Given the description of an element on the screen output the (x, y) to click on. 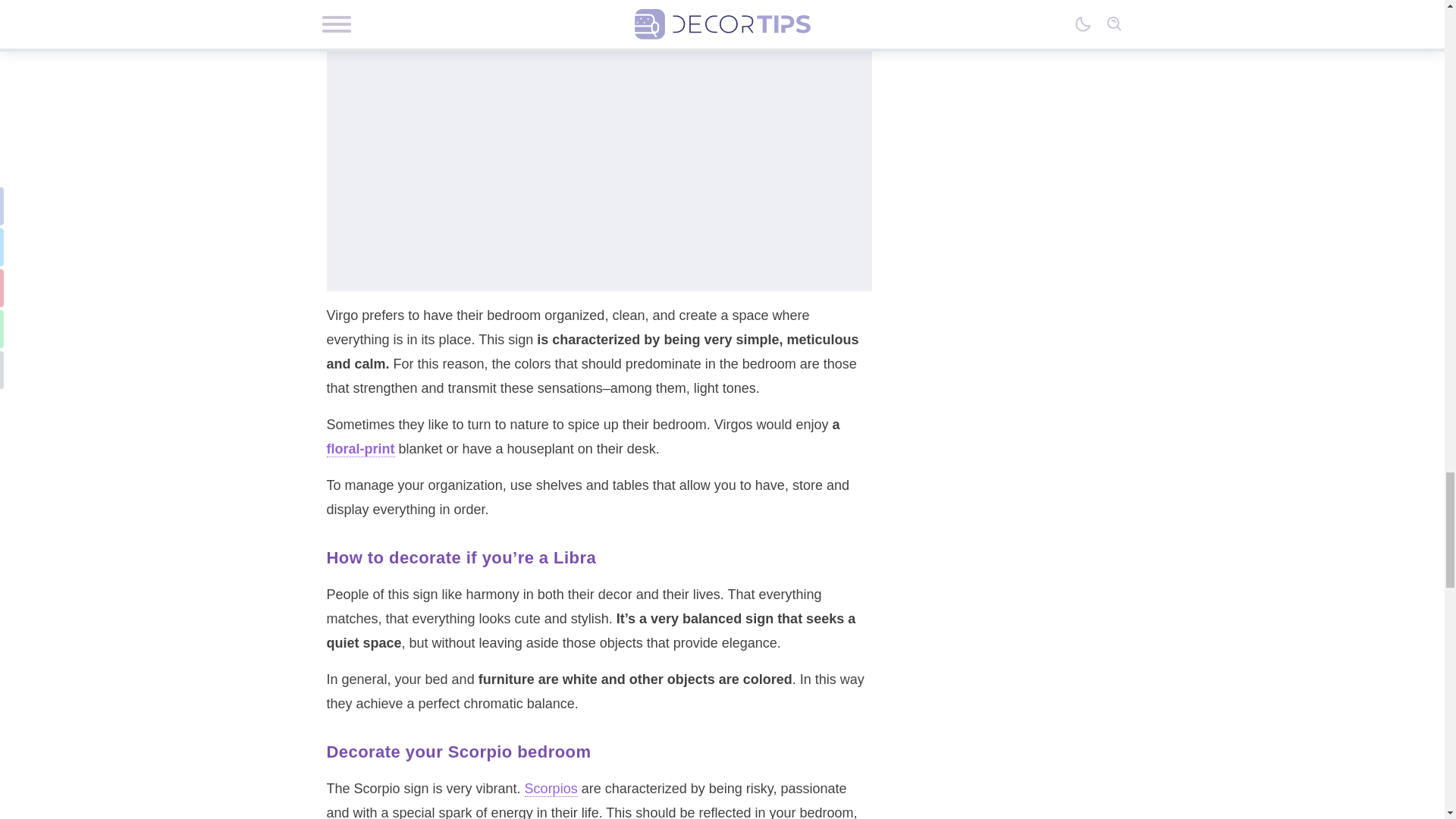
floral-print (360, 449)
Scorpios (551, 788)
